Given the description of an element on the screen output the (x, y) to click on. 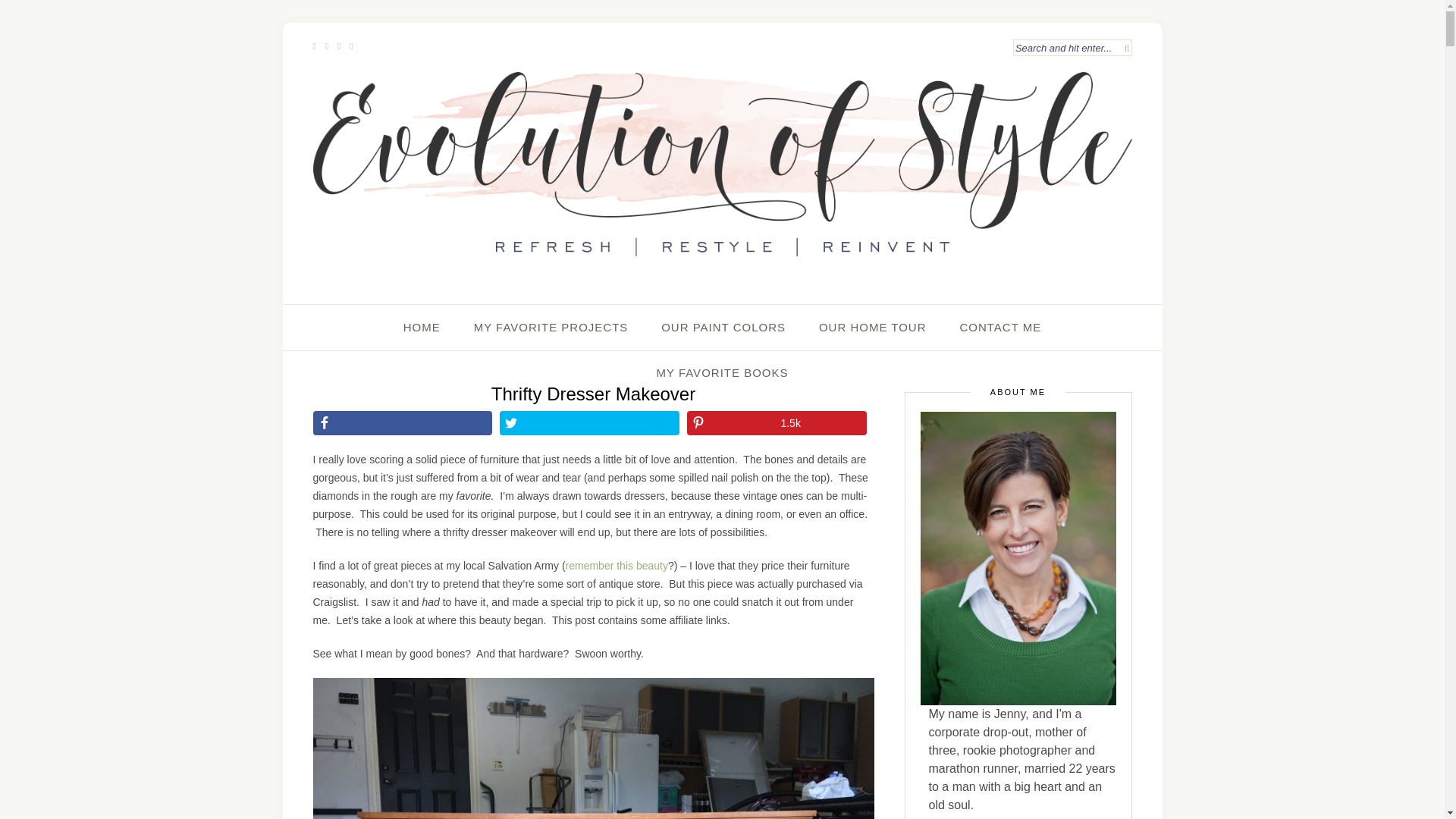
Share on Facebook (402, 422)
remember this beauty (617, 565)
MY FAVORITE PROJECTS (551, 327)
Share on Twitter (589, 422)
CONTACT ME (1000, 327)
OUR HOME TOUR (872, 327)
MY FAVORITE BOOKS (722, 372)
Share on Pinterest (776, 422)
OUR PAINT COLORS (723, 327)
1.5k (776, 422)
